Given the description of an element on the screen output the (x, y) to click on. 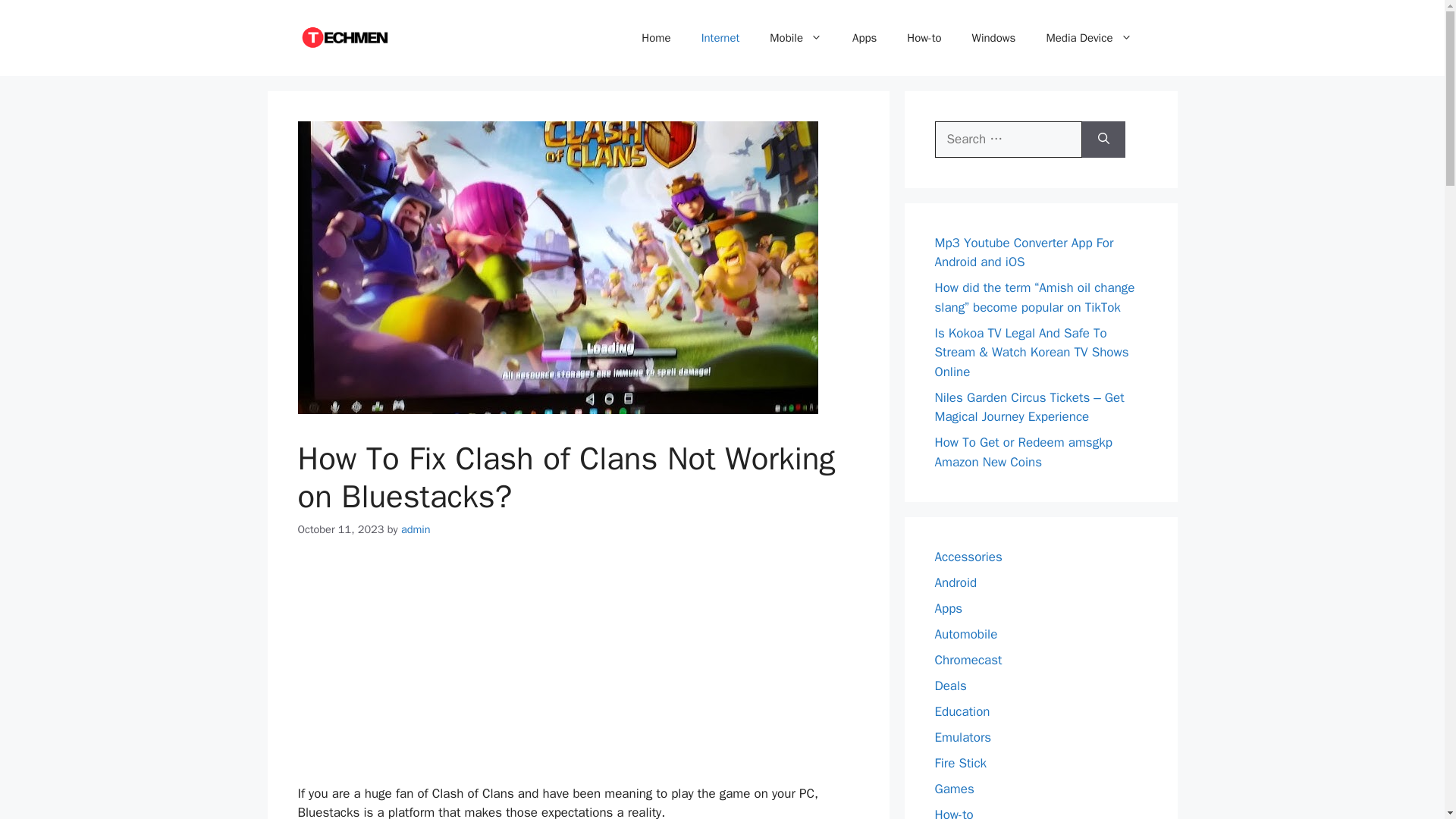
How-to (953, 812)
Media Device (1088, 37)
Apps (864, 37)
Accessories (967, 556)
Fire Stick (960, 763)
Emulators (962, 737)
View all posts by admin (415, 529)
Chromecast (967, 659)
How-to (923, 37)
Mobile (795, 37)
